Given the description of an element on the screen output the (x, y) to click on. 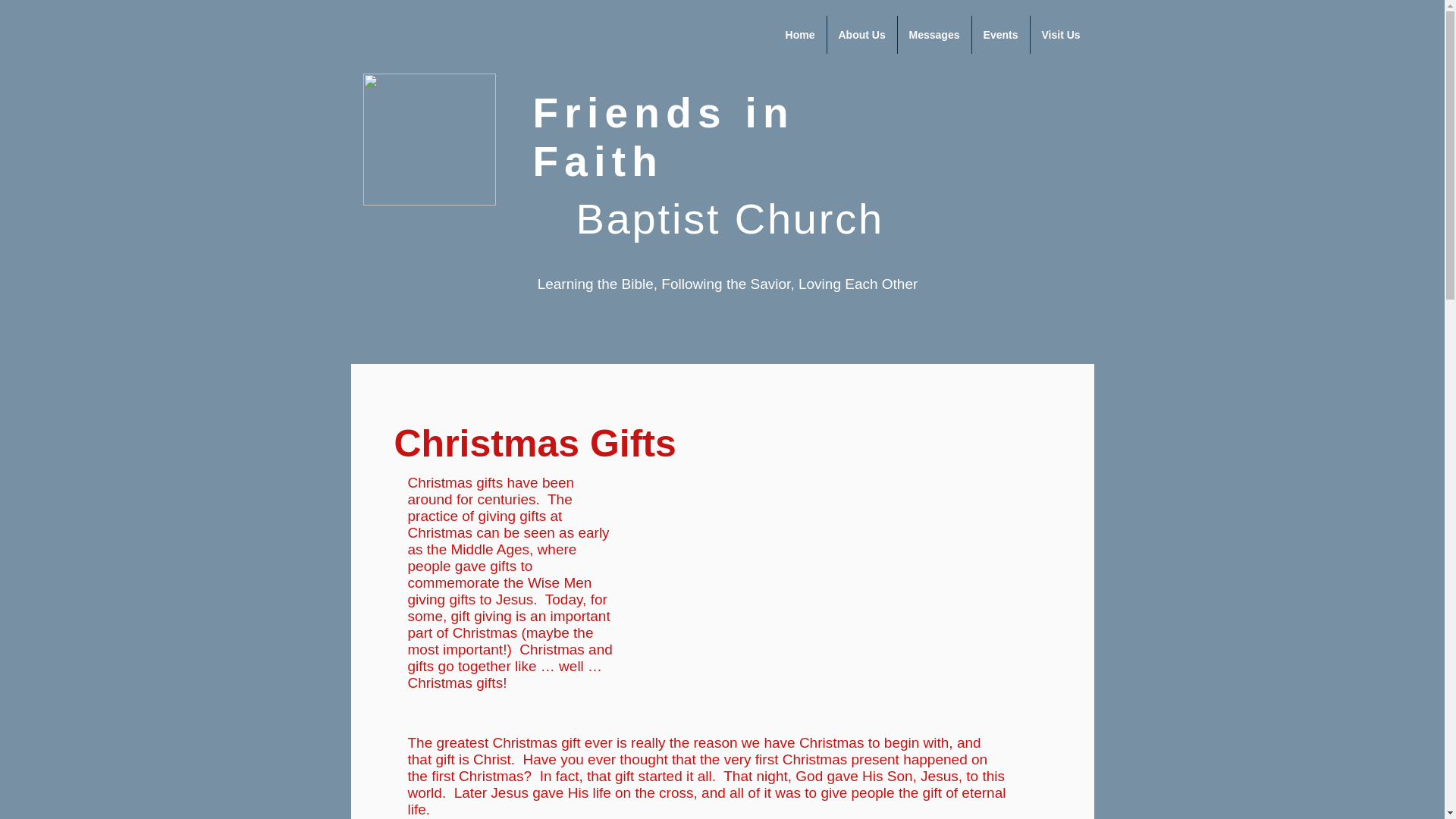
About Us (861, 34)
Visit Us (1059, 34)
Friends in Faith (662, 137)
Home (799, 34)
Messages (934, 34)
FIF cross.png (428, 139)
Events (1000, 34)
